Given the description of an element on the screen output the (x, y) to click on. 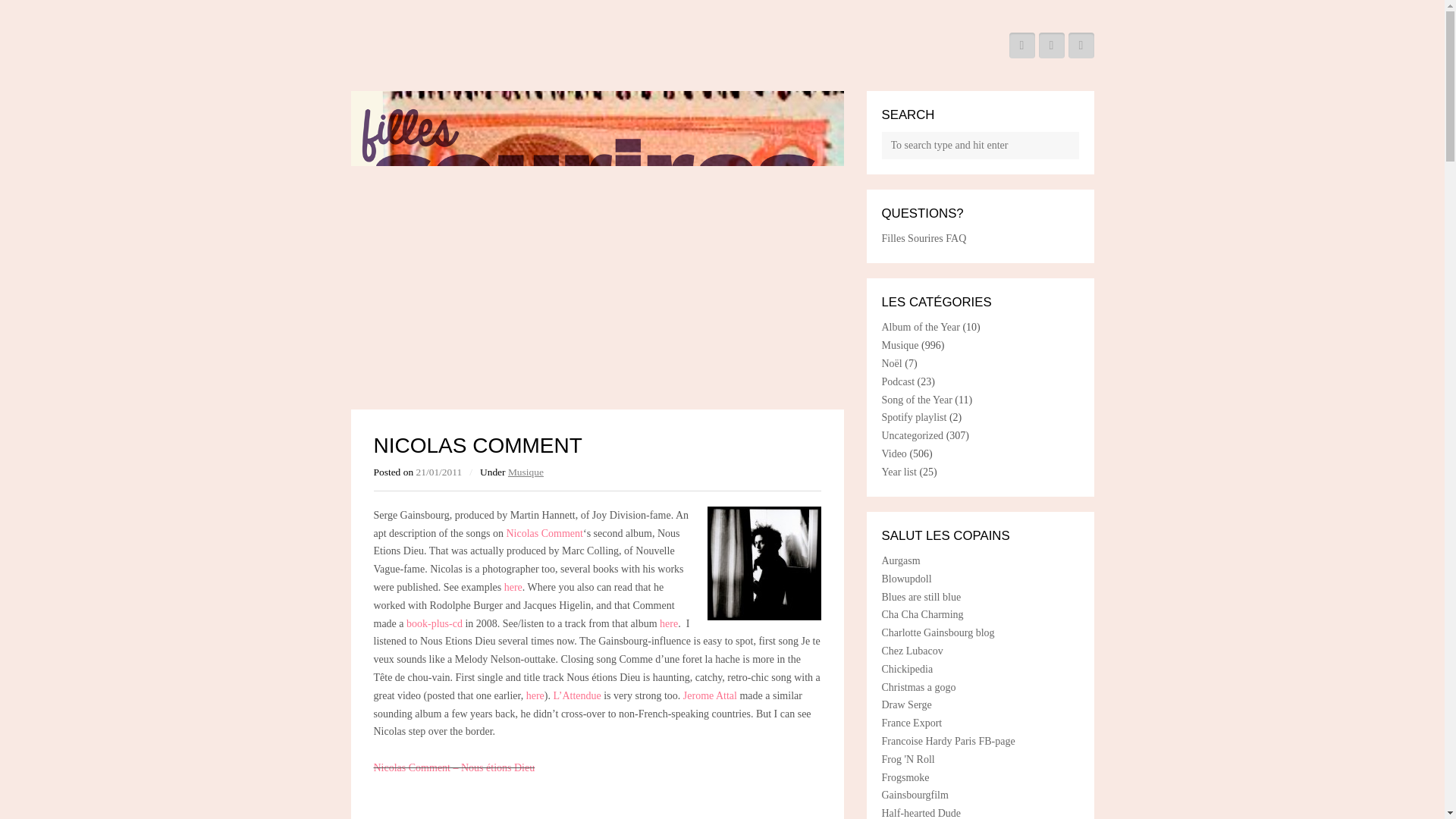
Best blog about France ever (904, 777)
book-plus-cd (434, 623)
Cha Cha Charming (921, 614)
Draw Serge (905, 704)
Frog 'N Roll (907, 758)
Chickipedia (906, 668)
Podcast (897, 381)
Various illustrators from all over pay tribute to Serge (905, 704)
Chez Lubacov (911, 650)
Charlotte Gainsbourg blog (937, 632)
